Given the description of an element on the screen output the (x, y) to click on. 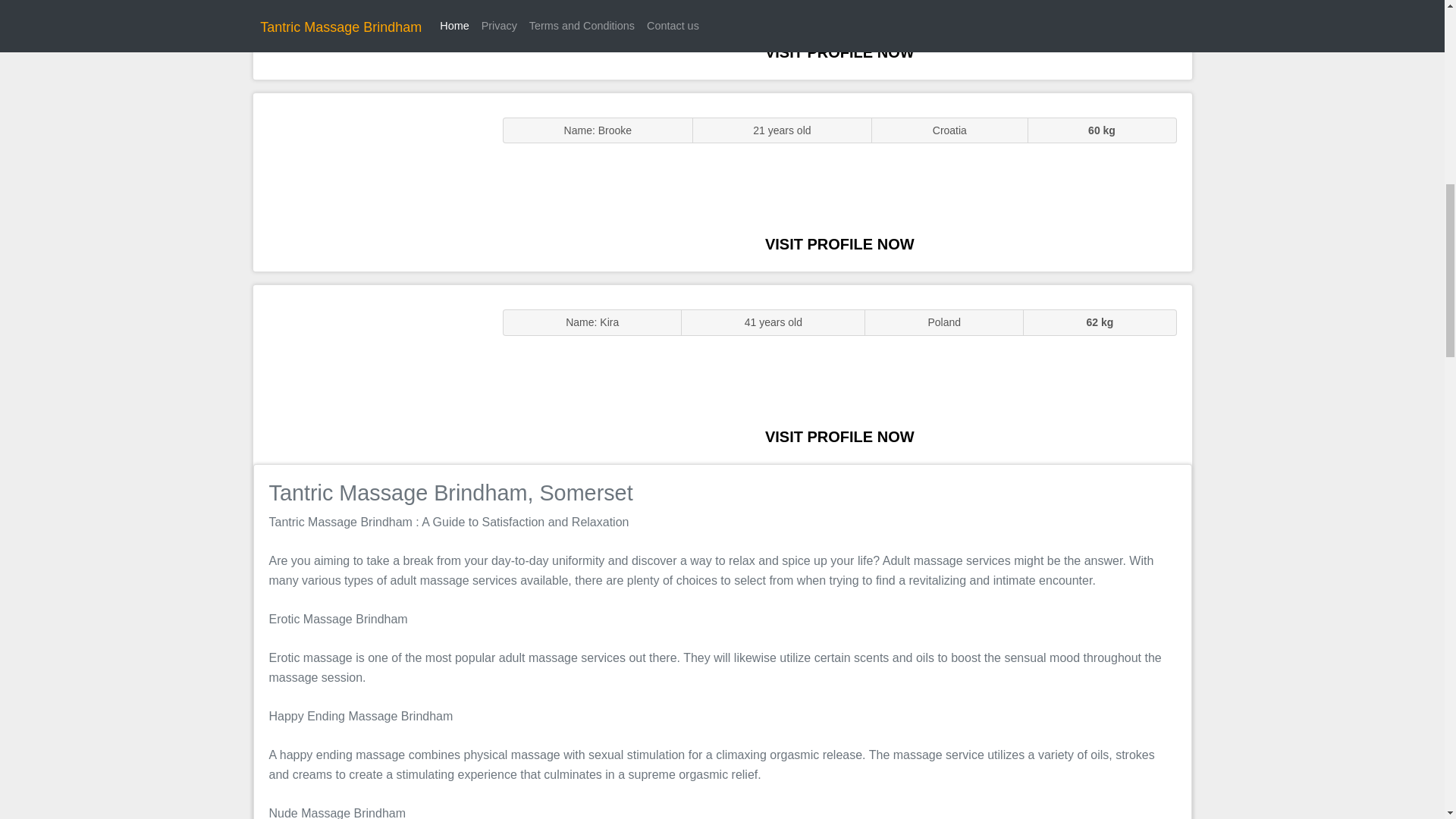
VISIT PROFILE NOW (839, 243)
Massage (370, 374)
Sluts (370, 39)
VISIT PROFILE NOW (839, 52)
VISIT PROFILE NOW (839, 436)
Sluts (370, 182)
